Given the description of an element on the screen output the (x, y) to click on. 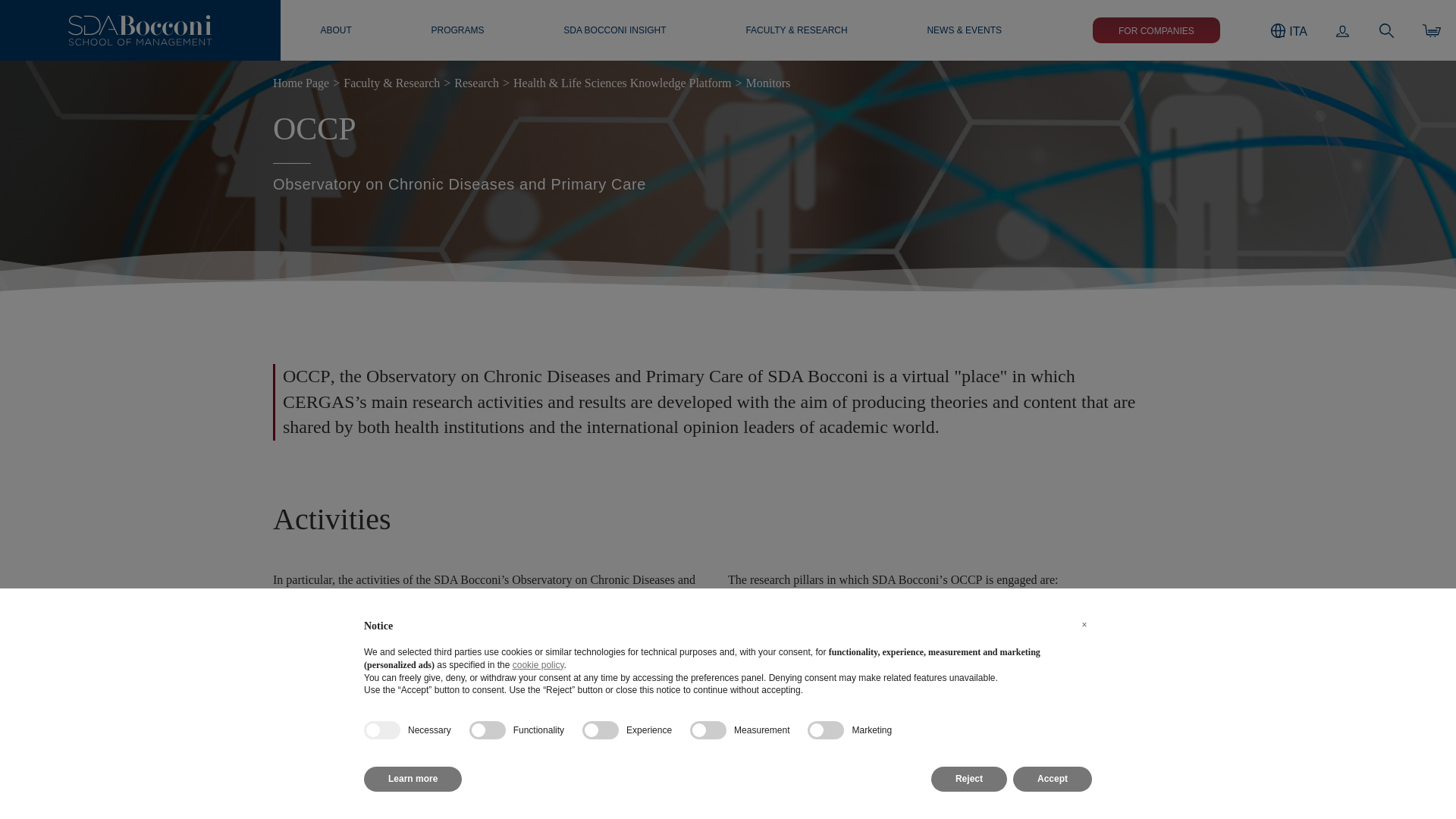
false (600, 730)
false (708, 730)
false (826, 730)
PROGRAMS (456, 30)
ABOUT (335, 30)
false (486, 730)
SDA BOCCONI INSIGHT (614, 30)
true (382, 730)
